Given the description of an element on the screen output the (x, y) to click on. 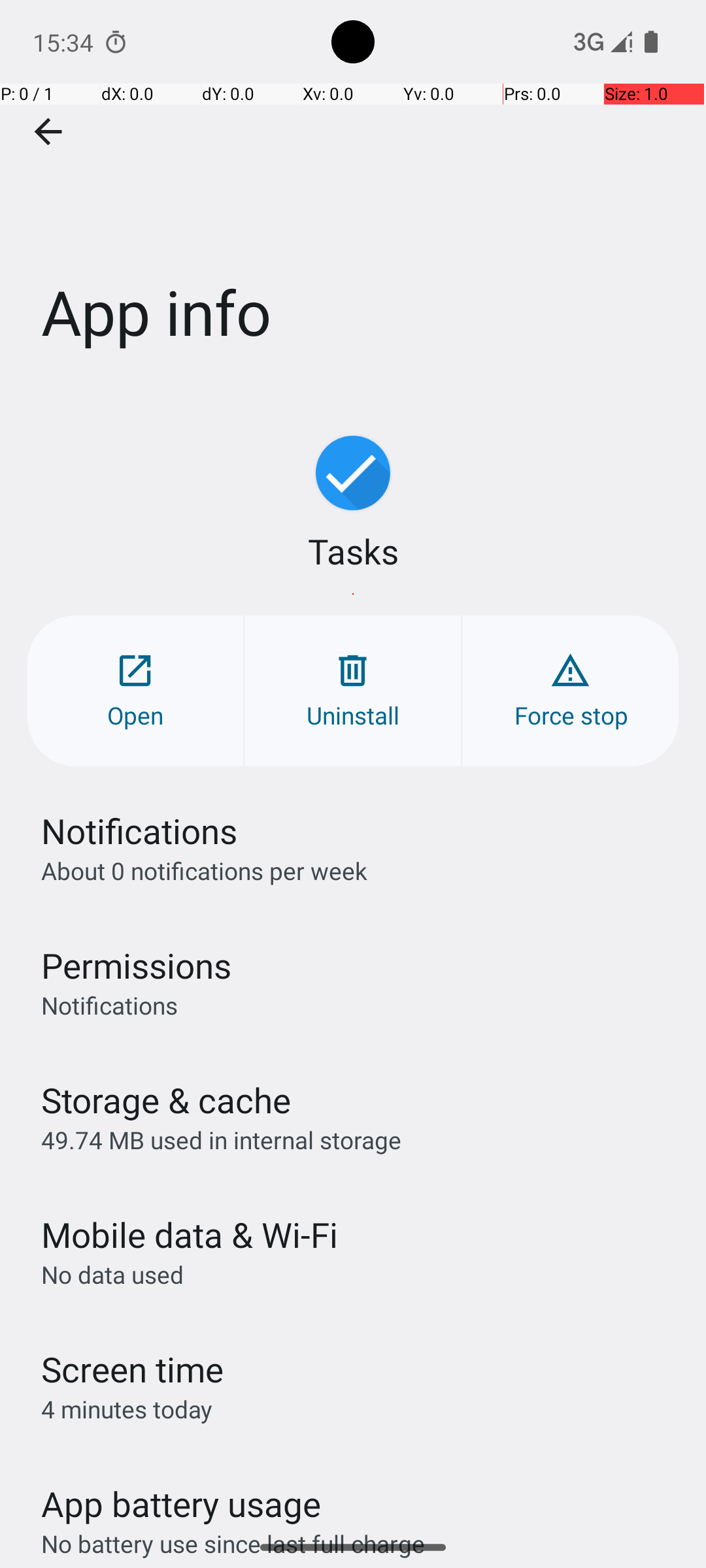
49.74 MB used in internal storage Element type: android.widget.TextView (221, 1139)
4 minutes today Element type: android.widget.TextView (127, 1408)
